Given the description of an element on the screen output the (x, y) to click on. 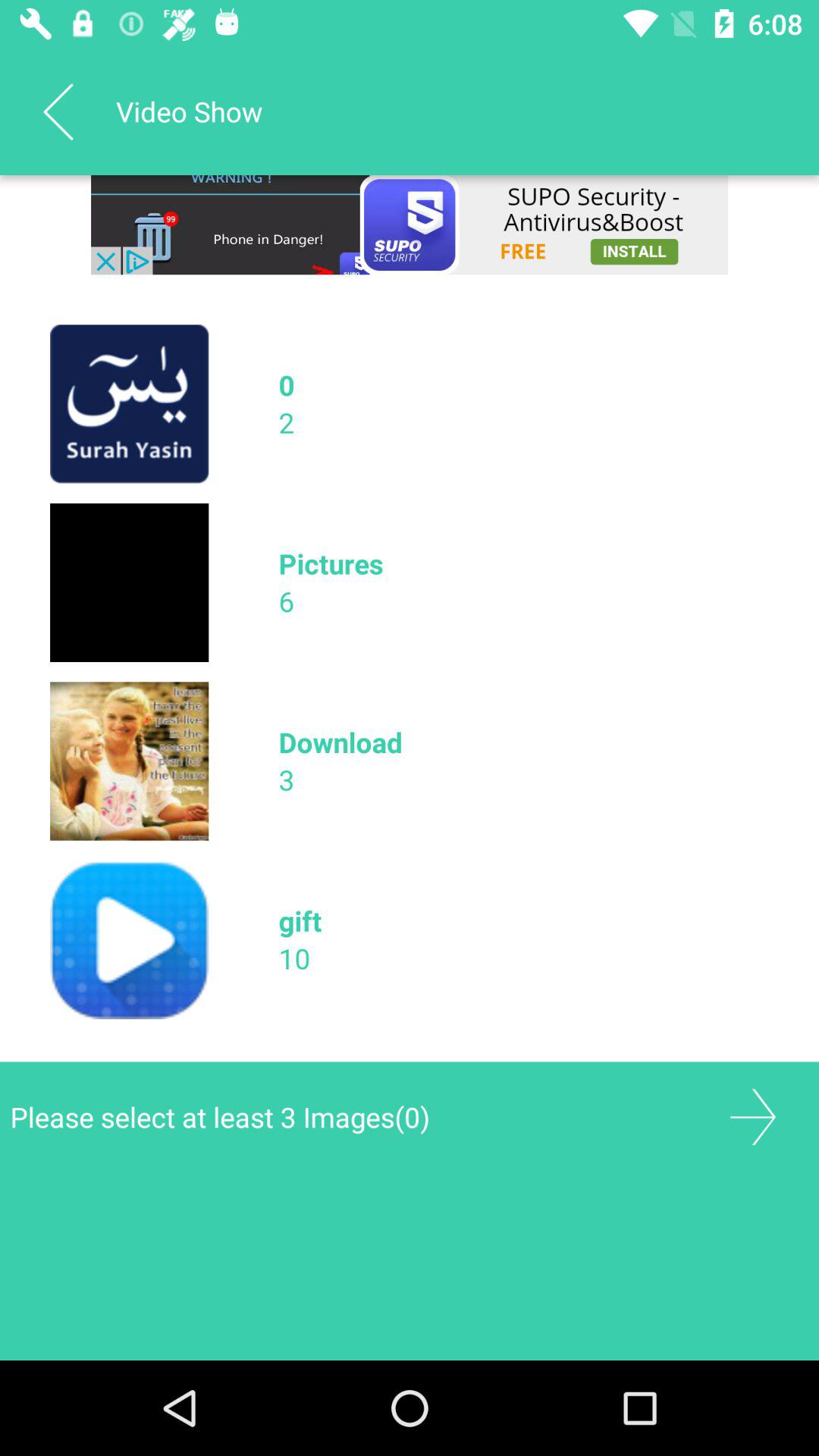
go to the advertisement (409, 224)
